Given the description of an element on the screen output the (x, y) to click on. 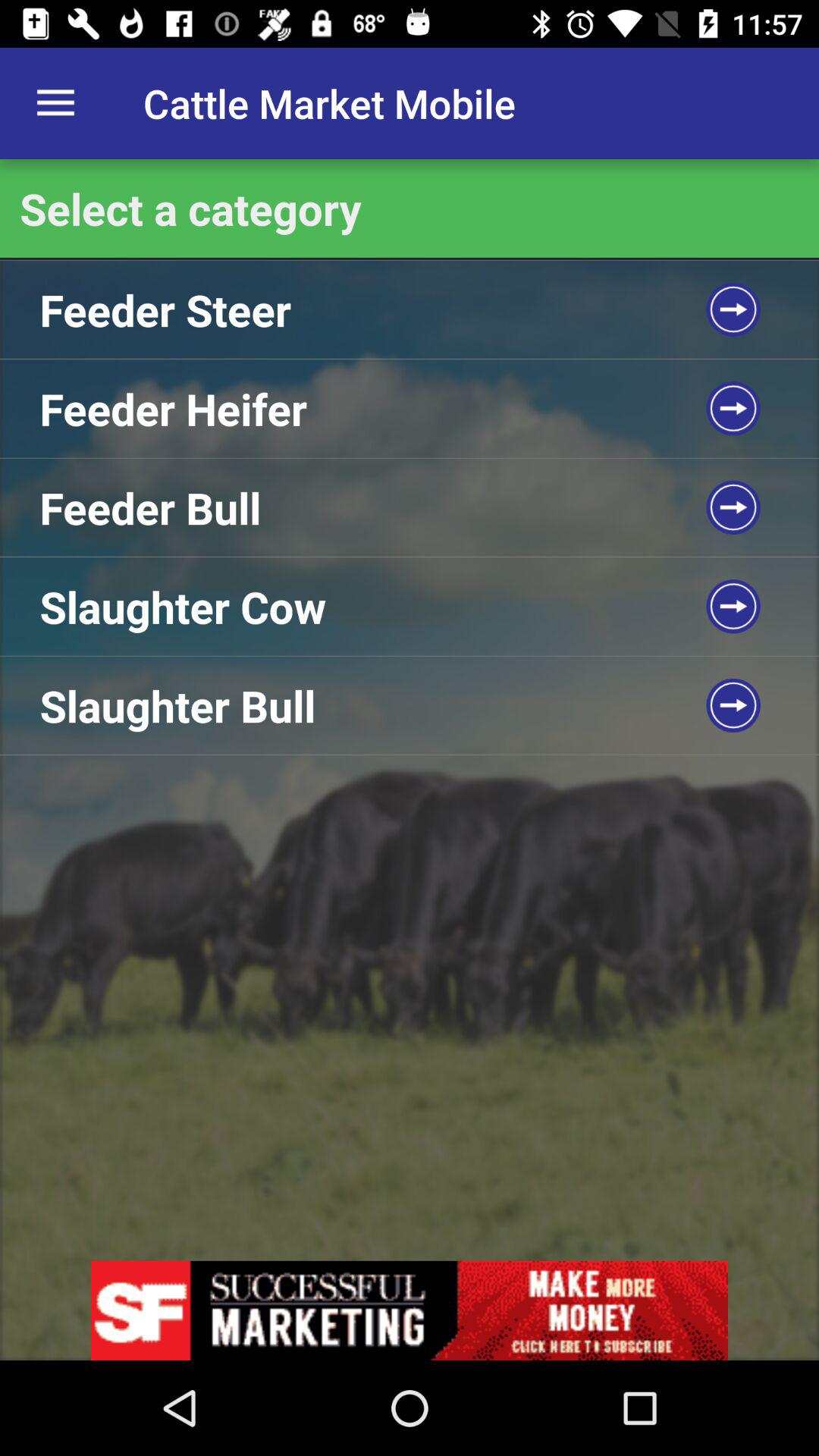
this is an advertisement (409, 1310)
